Given the description of an element on the screen output the (x, y) to click on. 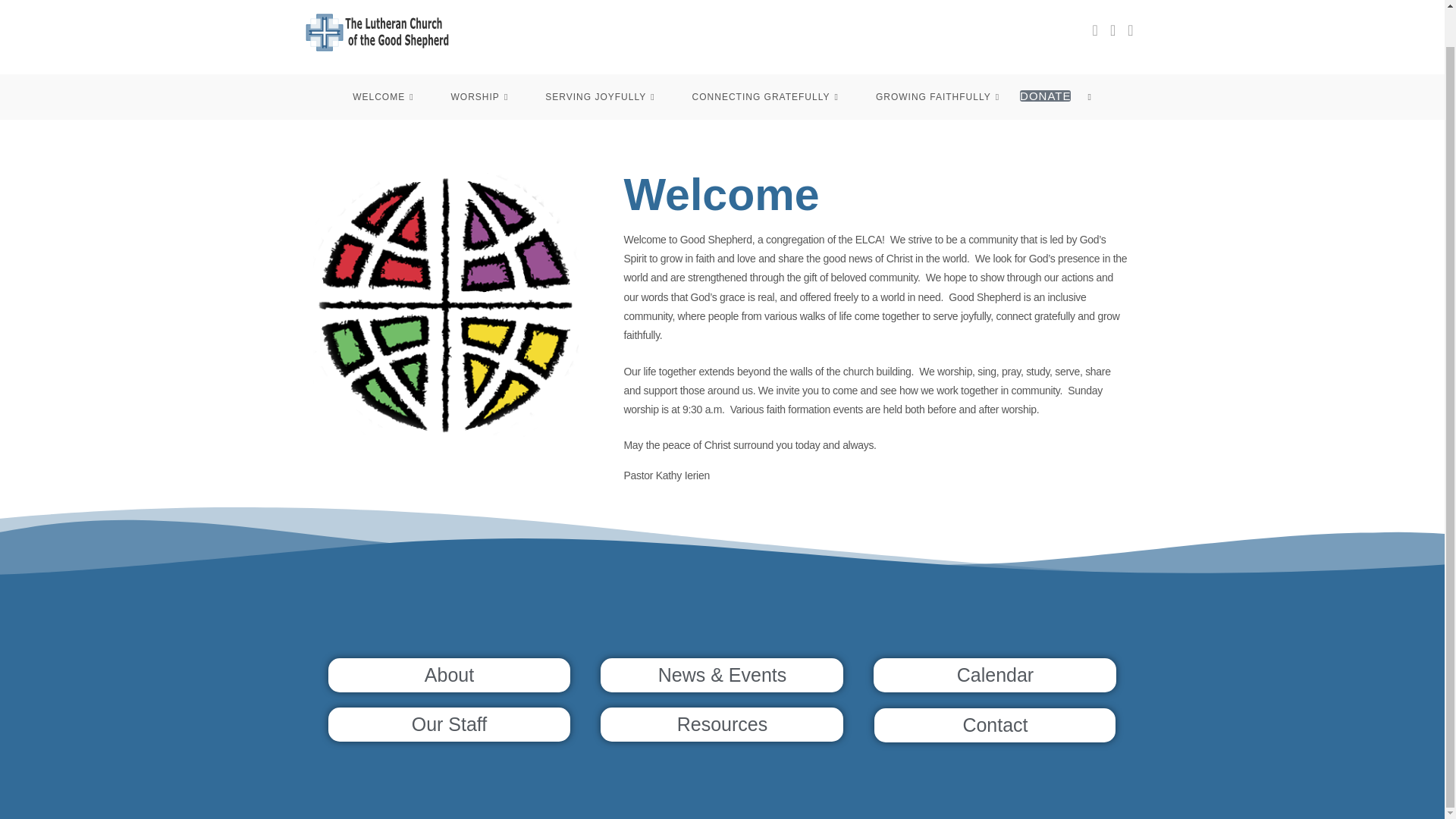
DONATE (1045, 95)
WELCOME (384, 96)
GROWING FAITHFULLY (939, 96)
CONNECTING GRATEFULLY (767, 96)
WORSHIP (481, 96)
SERVING JOYFULLY (601, 96)
